Given the description of an element on the screen output the (x, y) to click on. 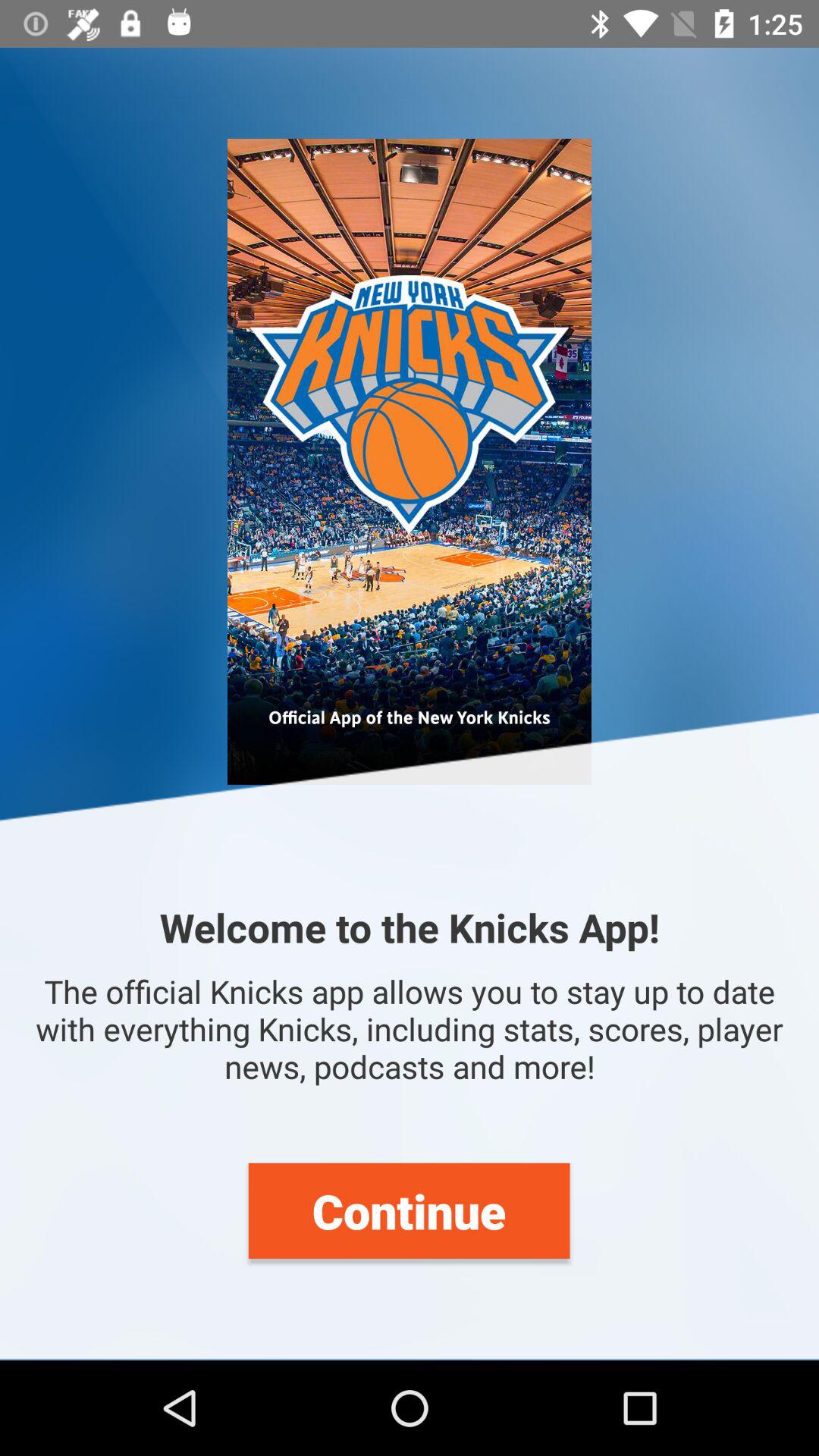
open continue icon (408, 1210)
